Given the description of an element on the screen output the (x, y) to click on. 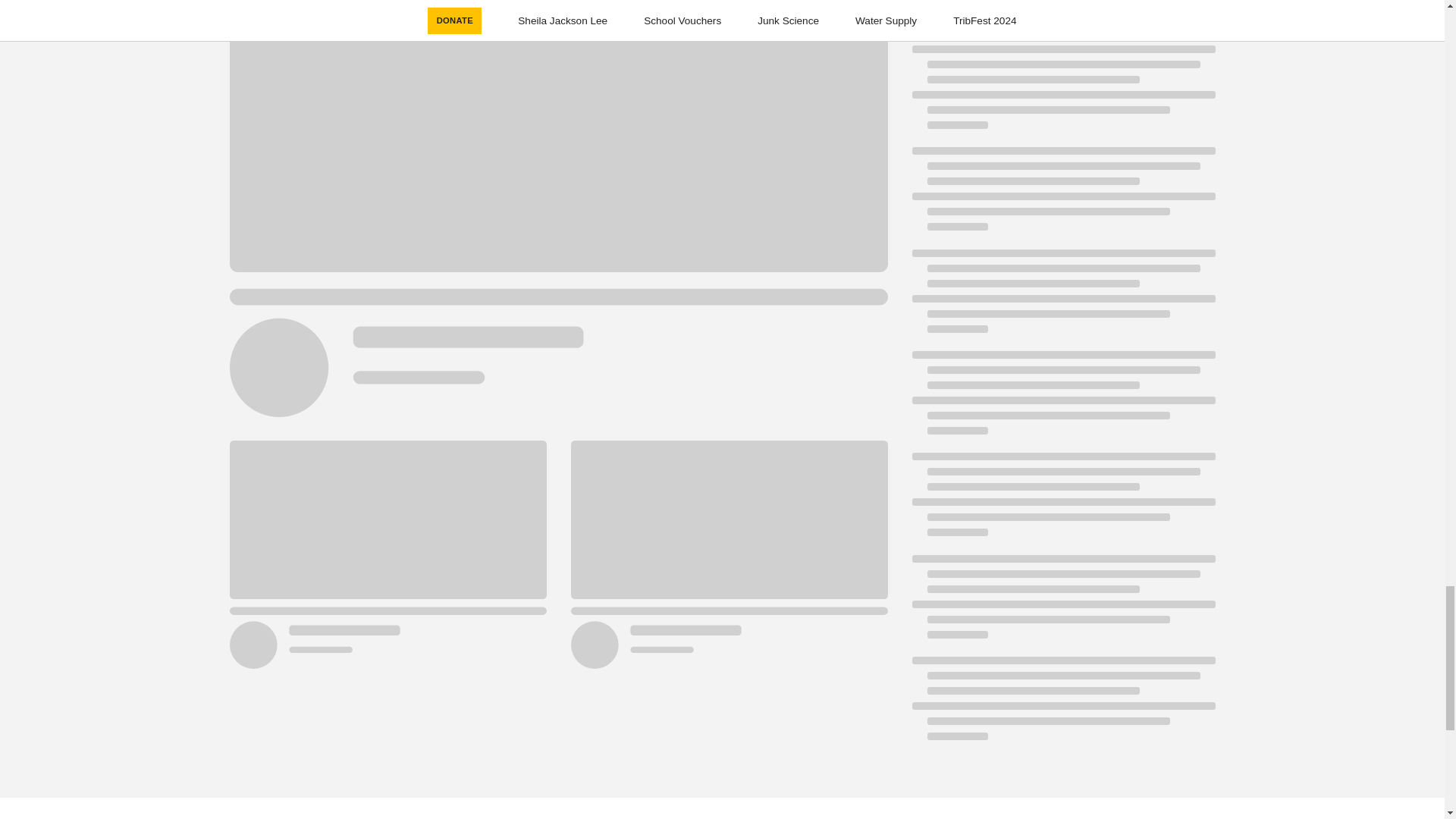
Loading indicator (1062, 705)
Loading indicator (1062, 400)
Loading indicator (1062, 604)
Loading indicator (1062, 20)
Loading indicator (1062, 196)
Loading indicator (1062, 501)
Loading indicator (1062, 94)
Loading indicator (1062, 298)
